Given the description of an element on the screen output the (x, y) to click on. 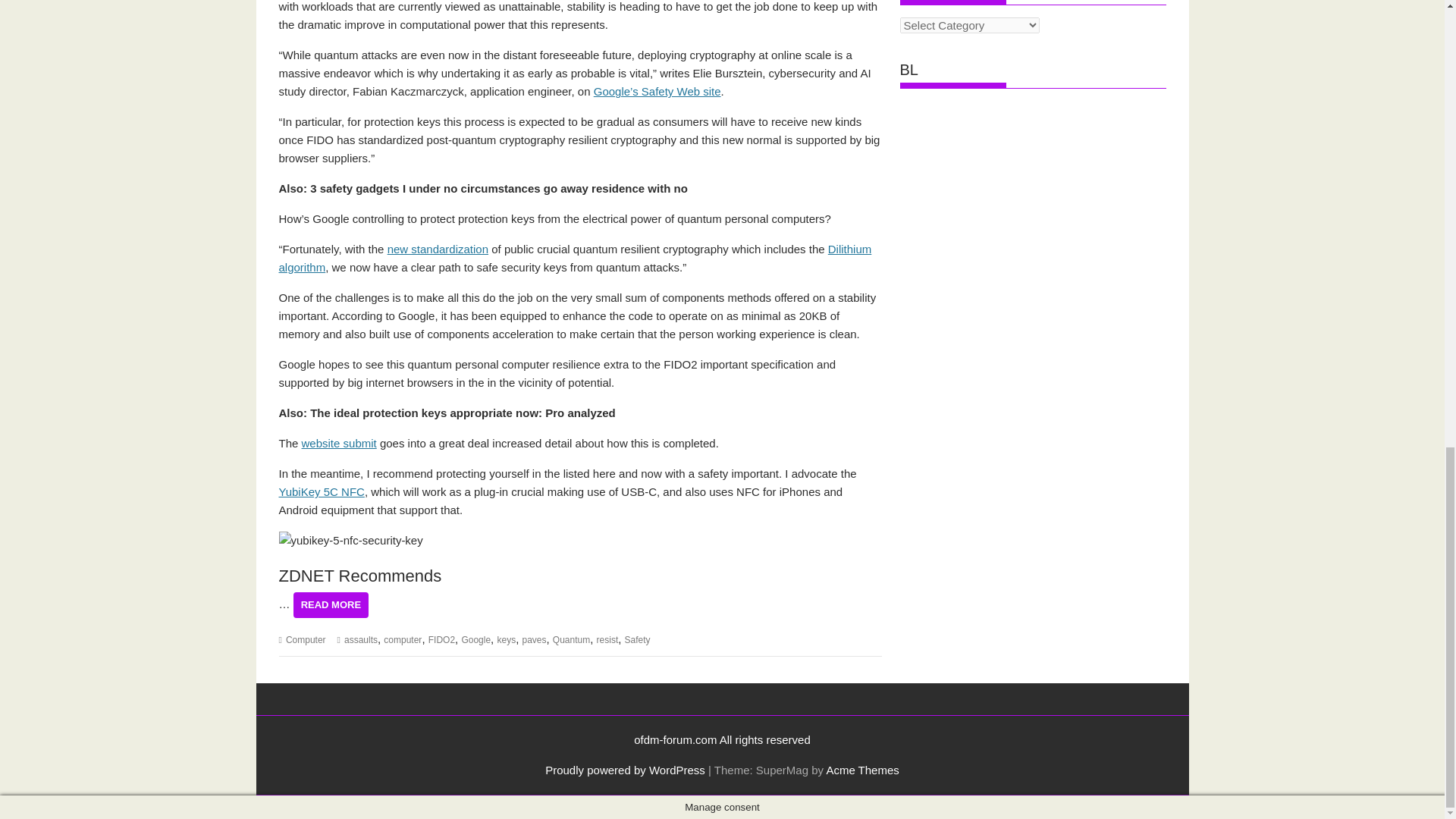
new standardization (437, 248)
assaults (360, 639)
FIDO2 (441, 639)
Computer (305, 639)
READ MORE (331, 605)
website submit (339, 442)
computer (403, 639)
Dilithium algorithm (575, 257)
YubiKey 5C NFC (322, 491)
